Given the description of an element on the screen output the (x, y) to click on. 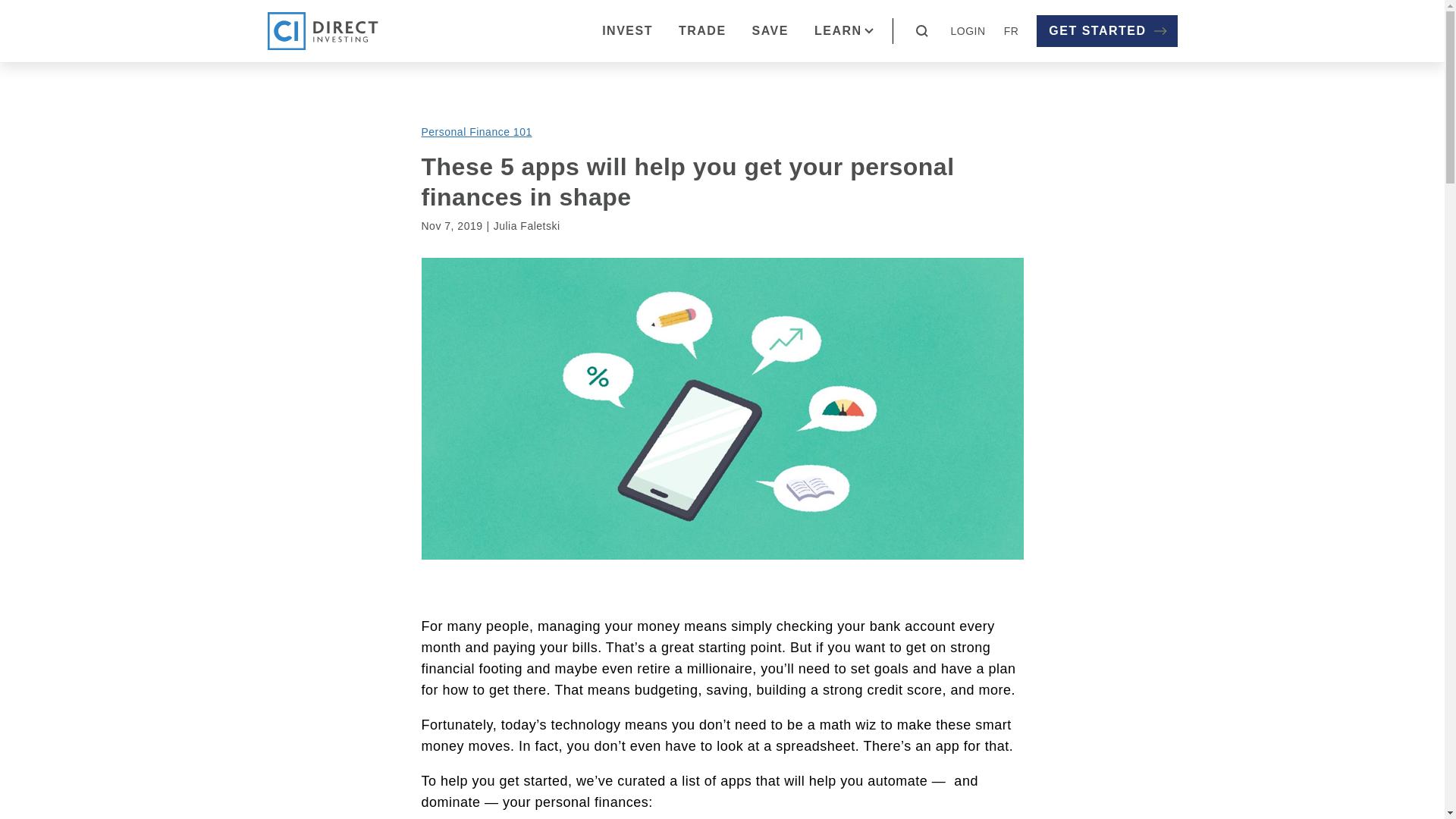
CI Direct Investing Logo (321, 30)
INVEST (627, 31)
TRADE (702, 31)
SAVE (770, 31)
Personal Finance 101 (481, 131)
LEARN (844, 31)
CI Direct Investing Logo (321, 30)
CI Direct Investing Logo (321, 30)
Personal Finance 101 (481, 131)
GET STARTED (1106, 30)
